Given the description of an element on the screen output the (x, y) to click on. 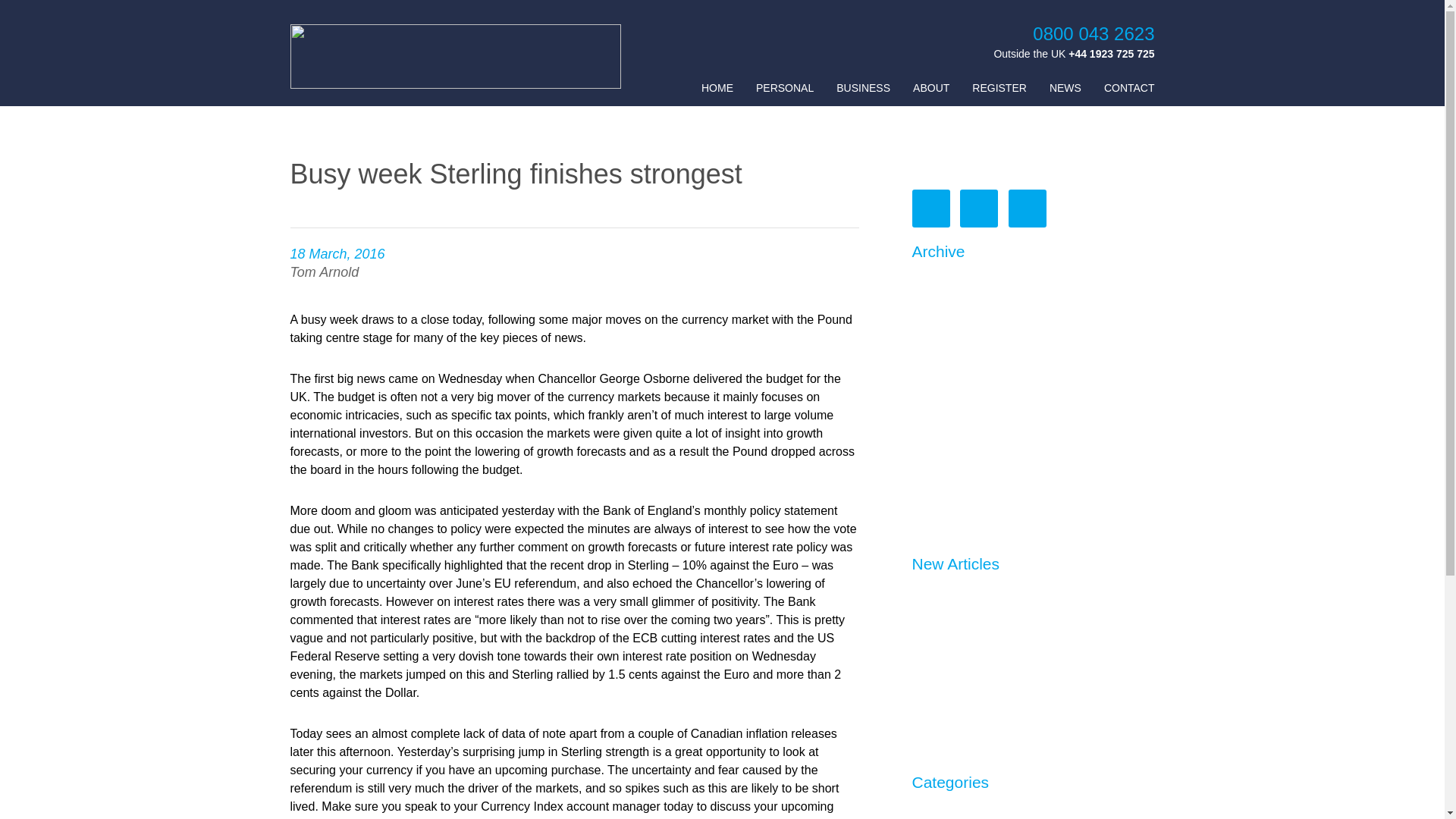
Share (1393, 16)
2017 (925, 361)
2013 (925, 476)
2011 (925, 533)
2012 (925, 504)
2020 (925, 275)
ABOUT (930, 87)
2016 (925, 390)
2018 (925, 332)
2015 (925, 418)
PERSONAL (784, 87)
BUSINESS (862, 87)
REGISTER (999, 87)
